Given the description of an element on the screen output the (x, y) to click on. 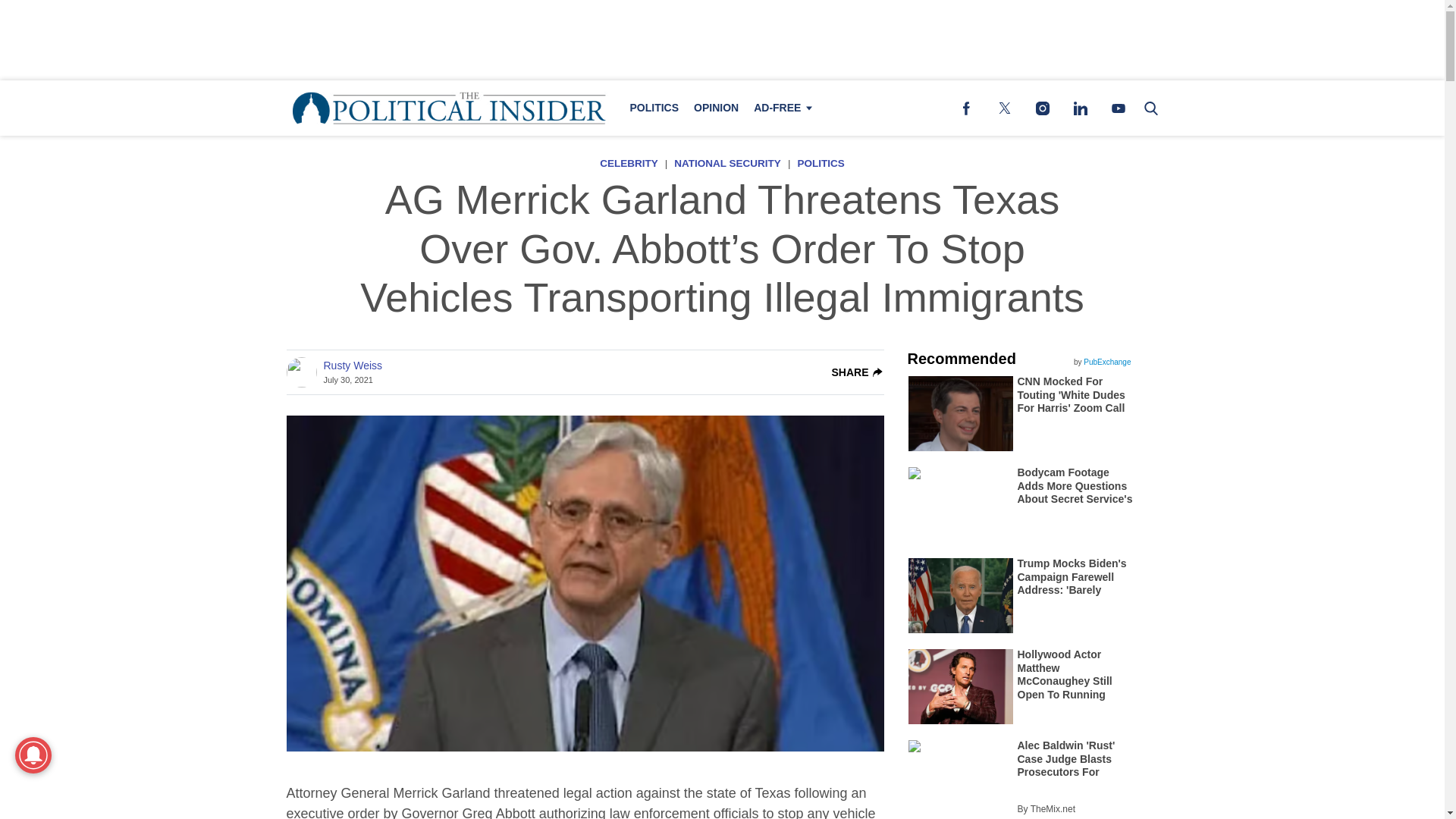
OPINION (715, 107)
Posts by Rusty Weiss (352, 365)
NATIONAL SECURITY (727, 163)
CELEBRITY (628, 163)
POLITICS (820, 163)
POLITICS (653, 107)
AD-FREE (780, 107)
Rusty Weiss (352, 365)
